Given the description of an element on the screen output the (x, y) to click on. 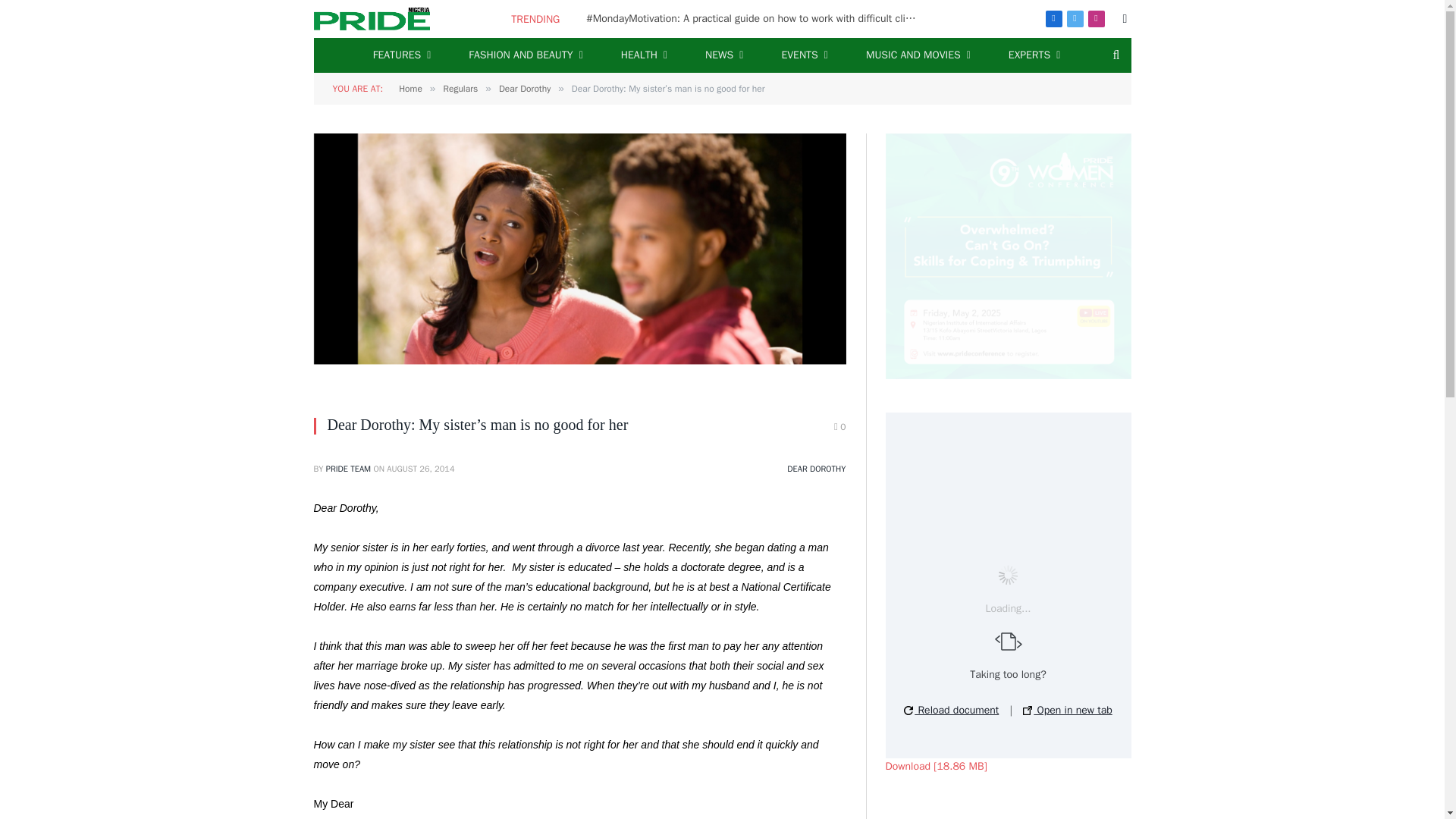
Facebook (1053, 18)
Pride Magazine Nigeria (371, 18)
Instagram (1095, 18)
Switch to Dark Design - easier on eyes. (1123, 19)
FEATURES (401, 54)
